Given the description of an element on the screen output the (x, y) to click on. 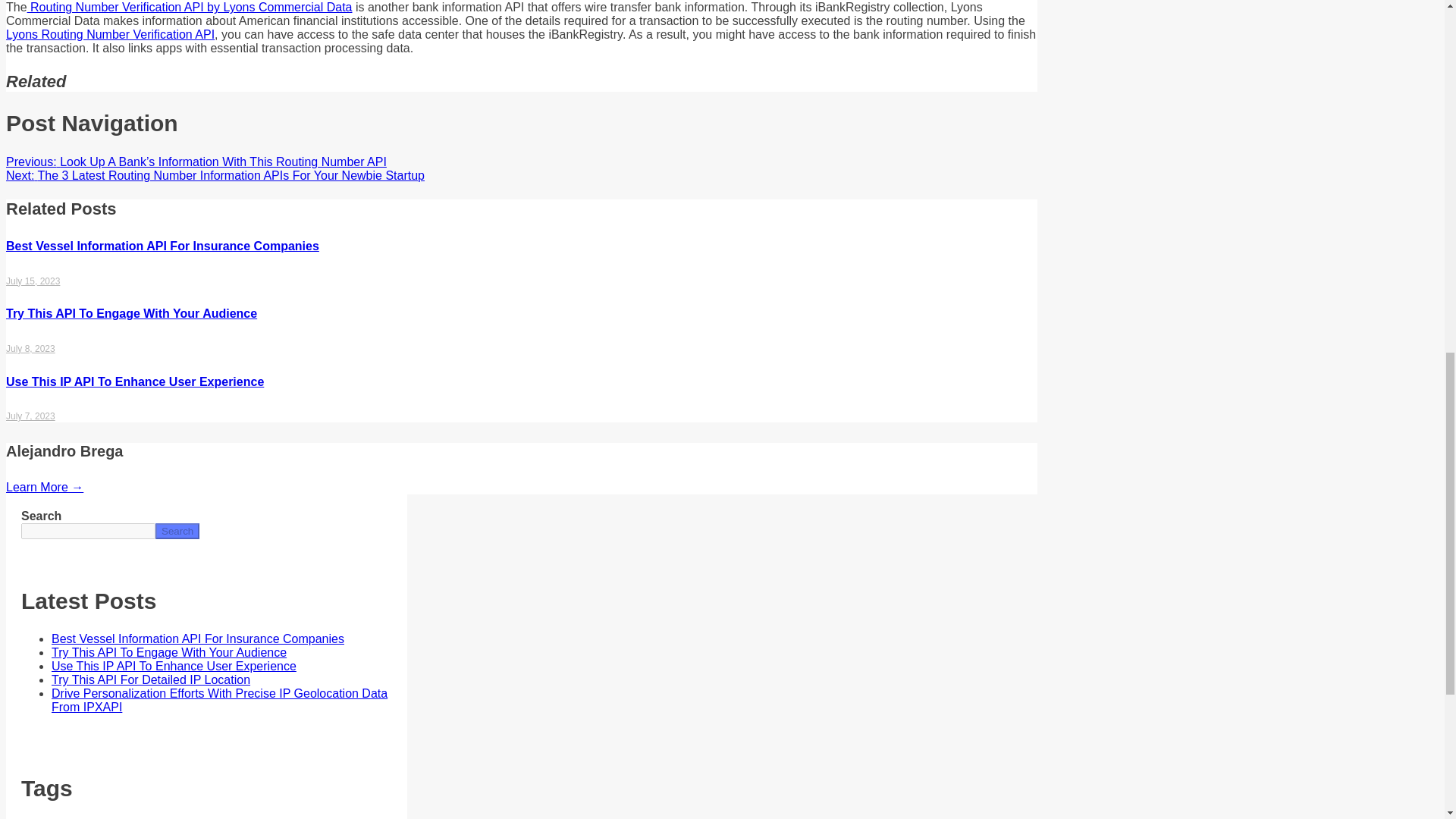
Best Vessel Information API For Insurance Companies (161, 245)
Lyons Routing Number Verification API (109, 33)
July 15, 2023 (32, 281)
Routing Number Verification API by Lyons Commercial Data (189, 6)
